Given the description of an element on the screen output the (x, y) to click on. 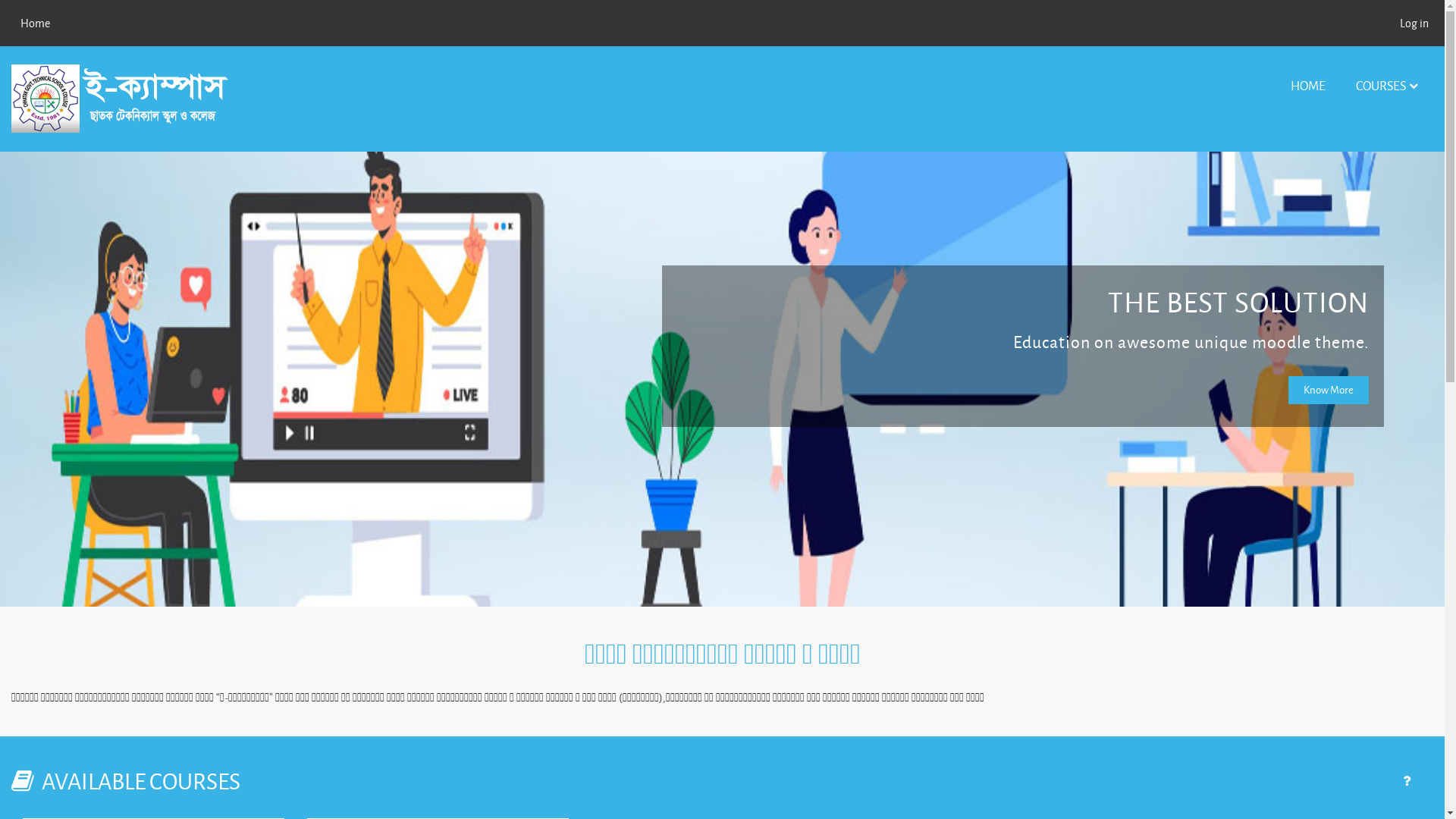
COURSES Element type: text (1386, 85)
Home Element type: text (35, 22)
HOME Element type: text (1307, 85)
Know More Element type: text (1328, 390)
Log in Element type: text (1413, 22)
